Given the description of an element on the screen output the (x, y) to click on. 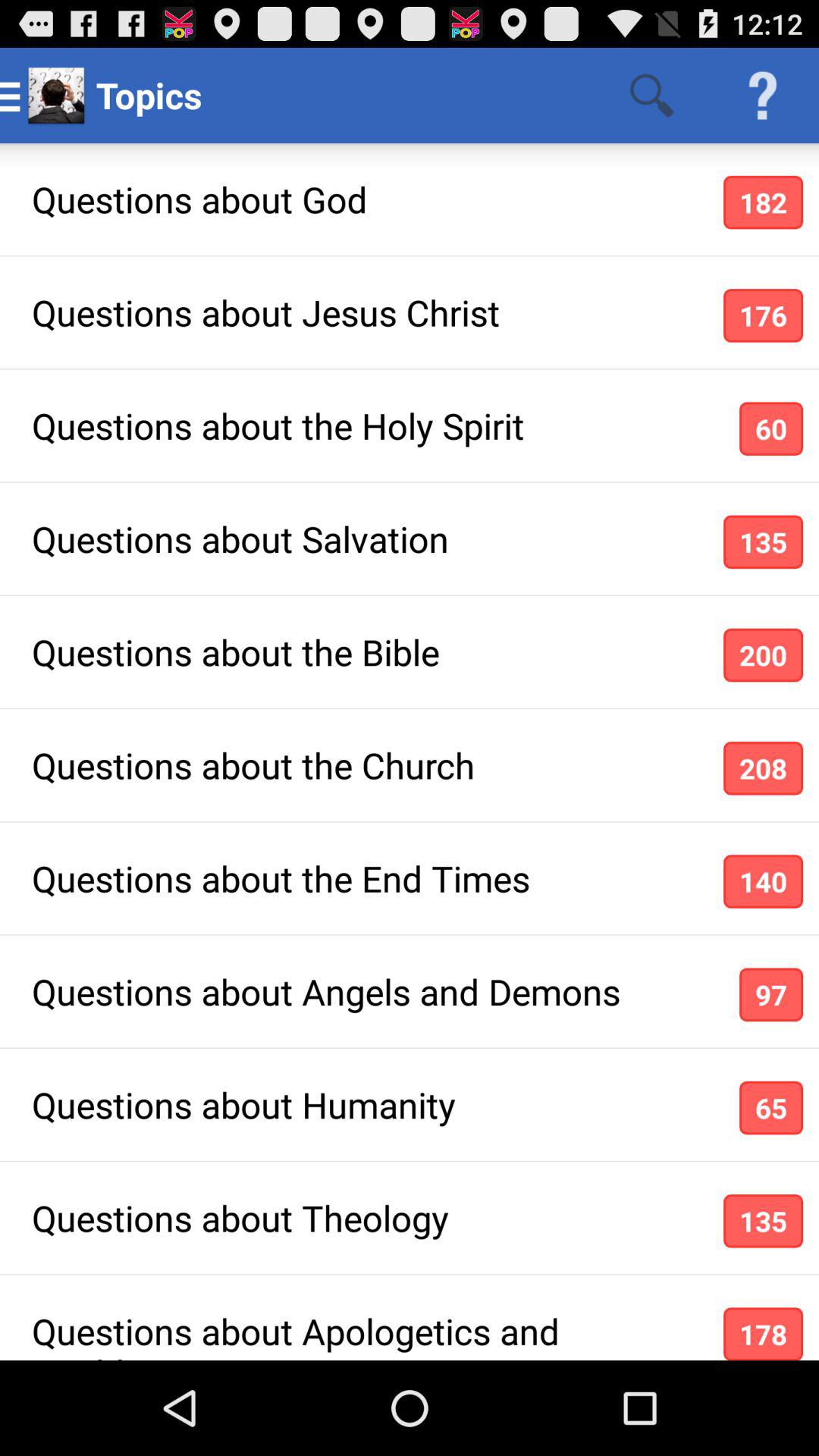
turn off app above questions about humanity (771, 994)
